Given the description of an element on the screen output the (x, y) to click on. 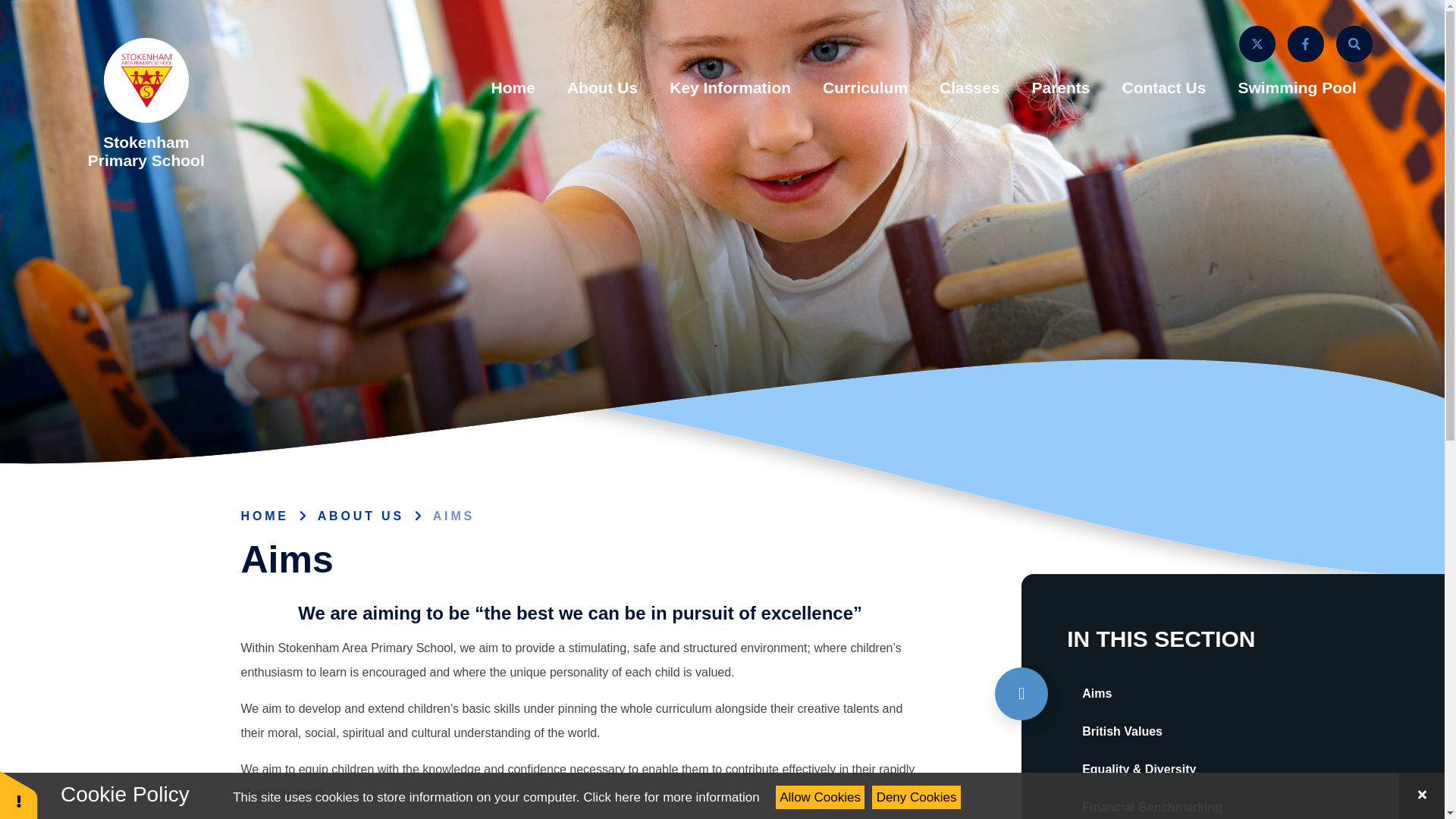
Deny Cookies (915, 797)
Home (513, 87)
About Us (602, 87)
Key Information (729, 87)
Allow Cookies (820, 797)
See cookie policy (670, 797)
